Given the description of an element on the screen output the (x, y) to click on. 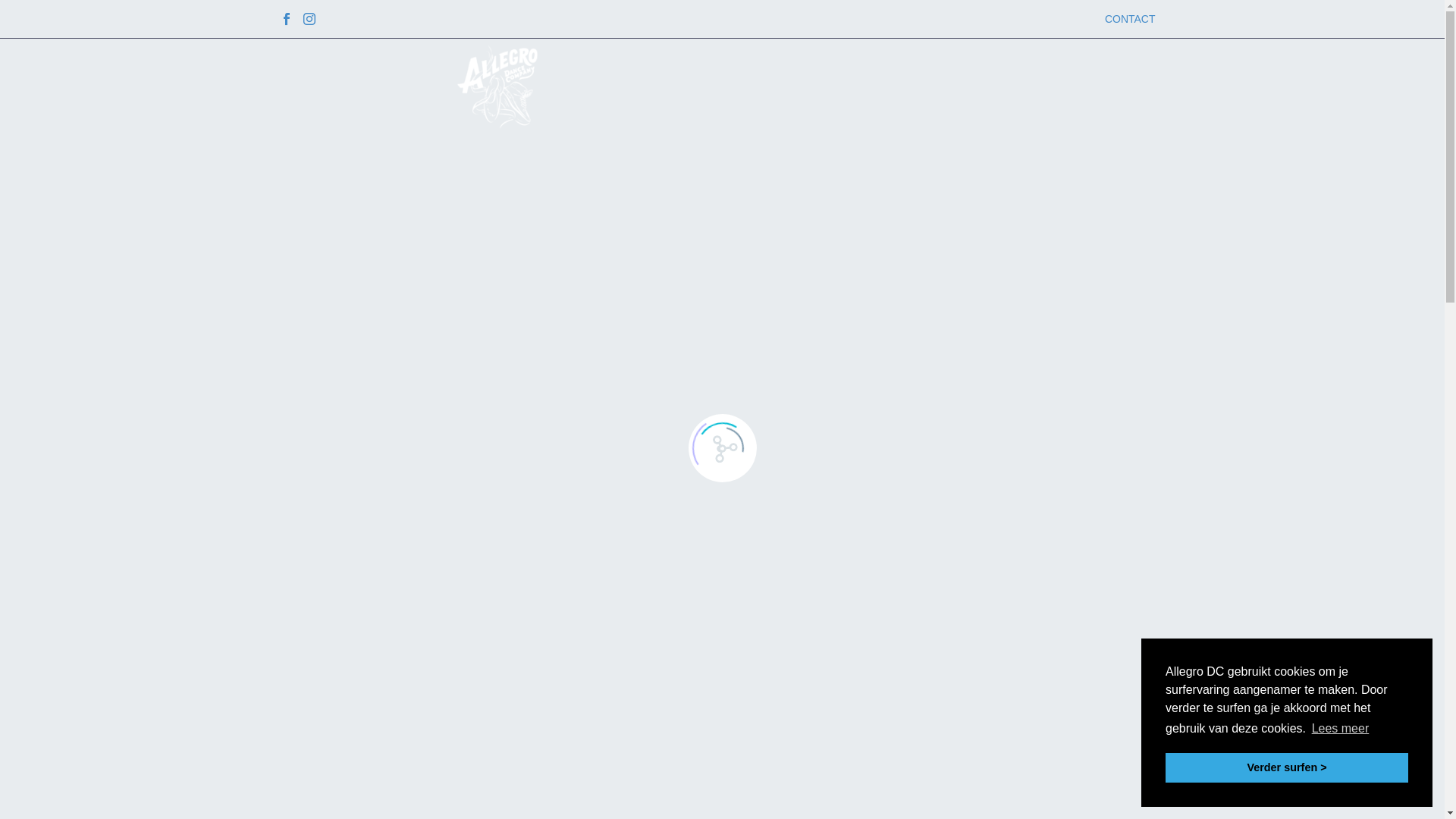
Verder surfen > Element type: text (1286, 767)
instagram Element type: hover (308, 18)
CONTACT Element type: text (1130, 18)
facebook Element type: hover (285, 18)
Lees meer Element type: text (1339, 728)
